Given the description of an element on the screen output the (x, y) to click on. 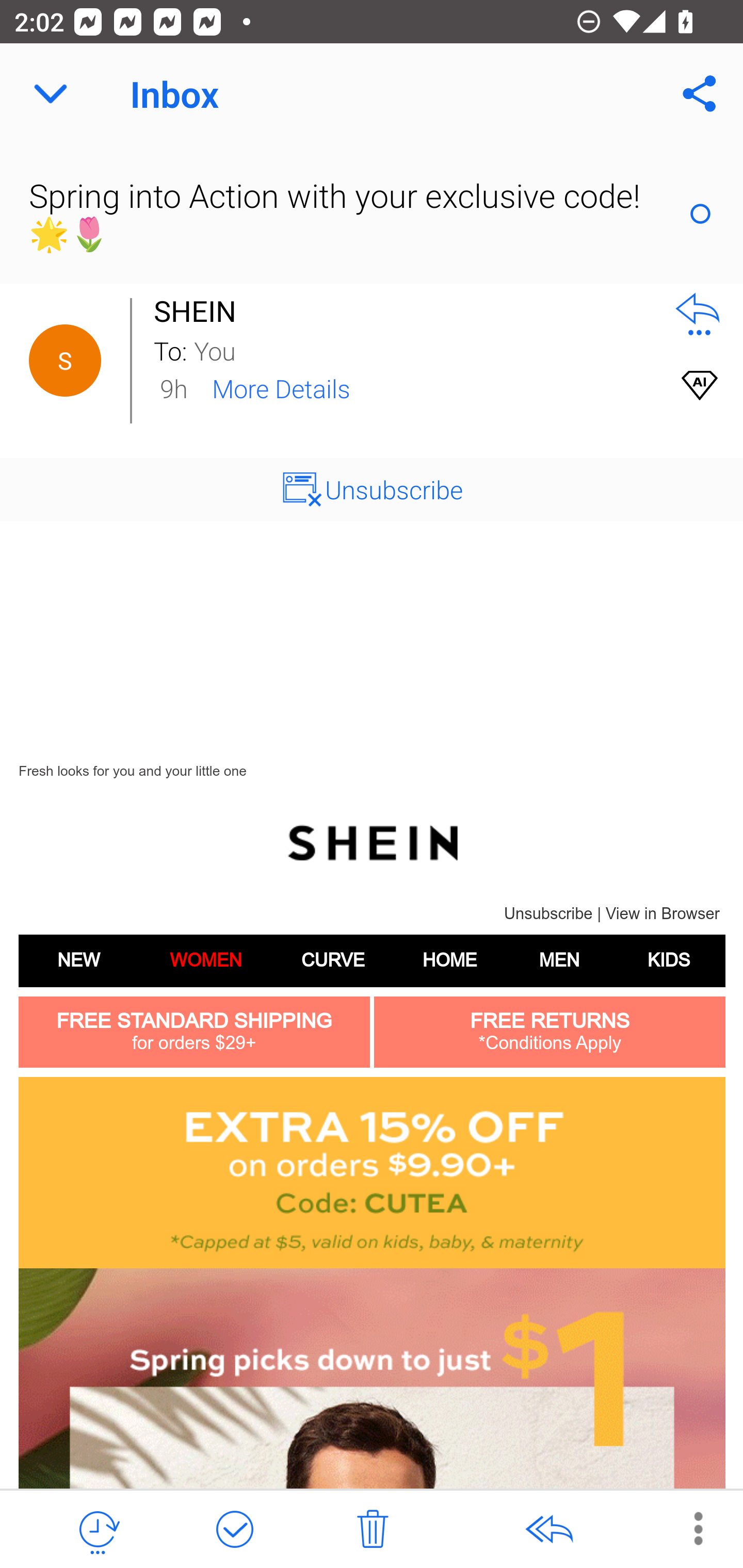
Navigate up (50, 93)
Share (699, 93)
Mark as Read (699, 213)
SHEIN (200, 310)
Contact Details (64, 360)
More Details (280, 387)
Unsubscribe (393, 488)
Fresh looks for you and your little one (132, 770)
SHEIN (371, 841)
Unsubscribe (547, 913)
View in Browser (661, 913)
NEW (78, 960)
WOMEN (205, 960)
CURVE (332, 960)
HOME (449, 960)
MEN (559, 960)
KIDS (668, 960)
FREE STANDARD SHIPPING (194, 1021)
FREE RETURNS (549, 1021)
for orders $29+ (193, 1043)
*Conditions Apply (549, 1043)
CODE: CUTEA (371, 1171)
More Options (687, 1528)
Snooze (97, 1529)
Mark as Done (234, 1529)
Delete (372, 1529)
Reply All (548, 1529)
